Given the description of an element on the screen output the (x, y) to click on. 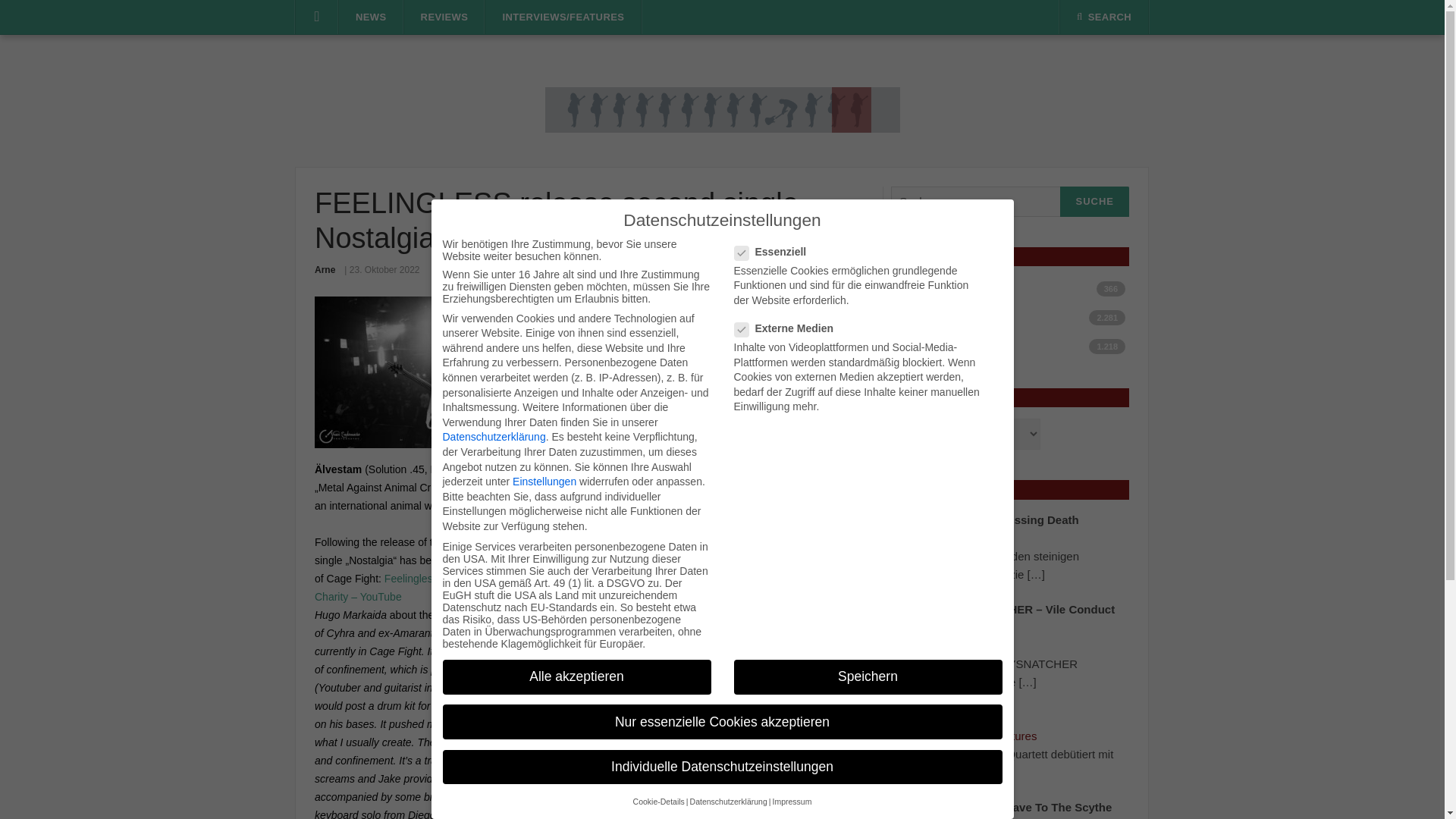
News (1014, 317)
SUNFALL (963, 717)
Cookie-Details (658, 800)
REVIEWS (444, 17)
Speichern (868, 677)
music-scan.de (721, 108)
Reviews (1014, 346)
Suche (1094, 201)
SEARCH (1104, 16)
Nur essenzielle Cookies akzeptieren (722, 721)
